Given the description of an element on the screen output the (x, y) to click on. 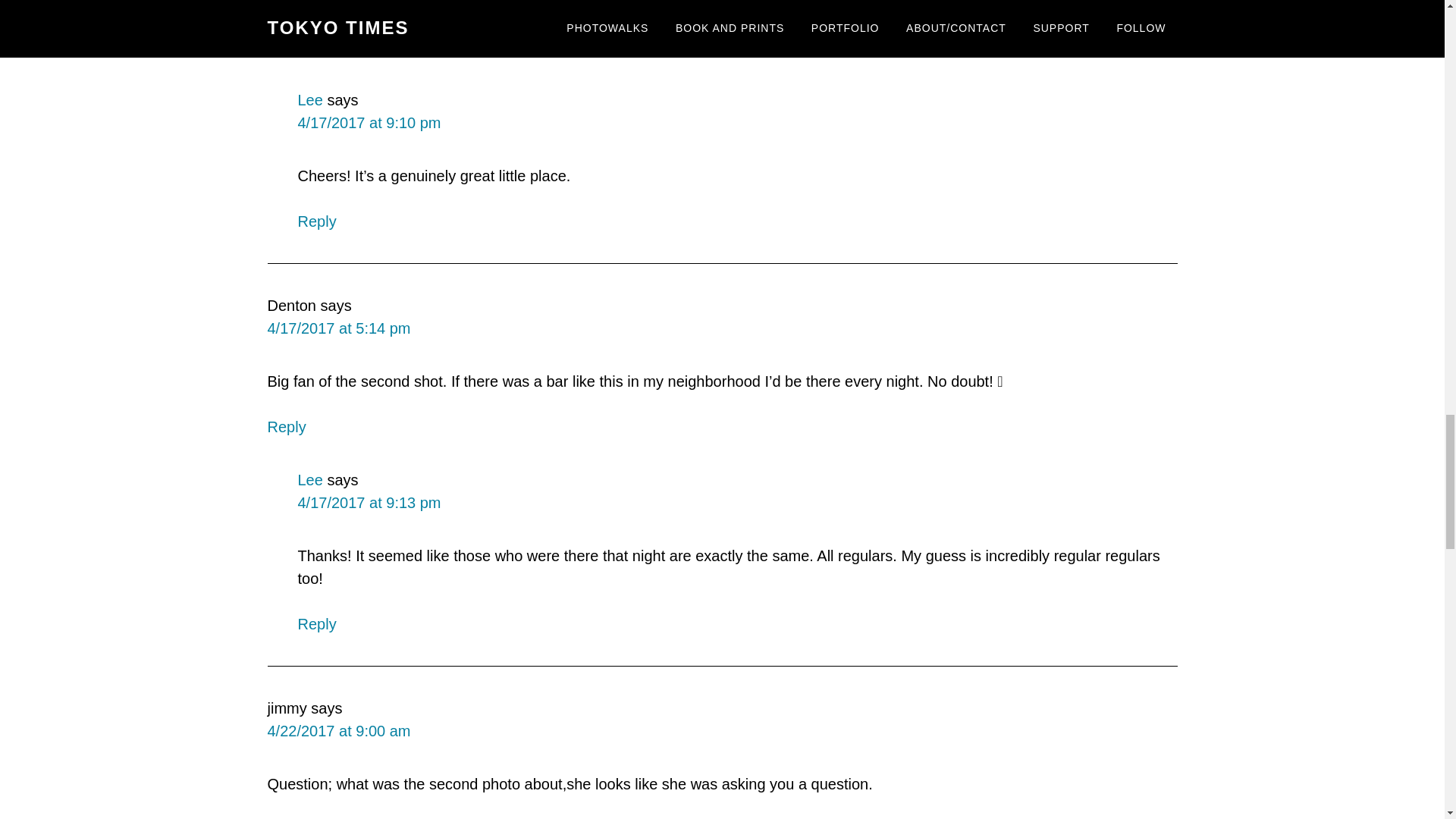
Reply (316, 221)
Lee (309, 479)
Reply (285, 426)
Reply (316, 623)
Reply (285, 46)
Lee (309, 99)
